Given the description of an element on the screen output the (x, y) to click on. 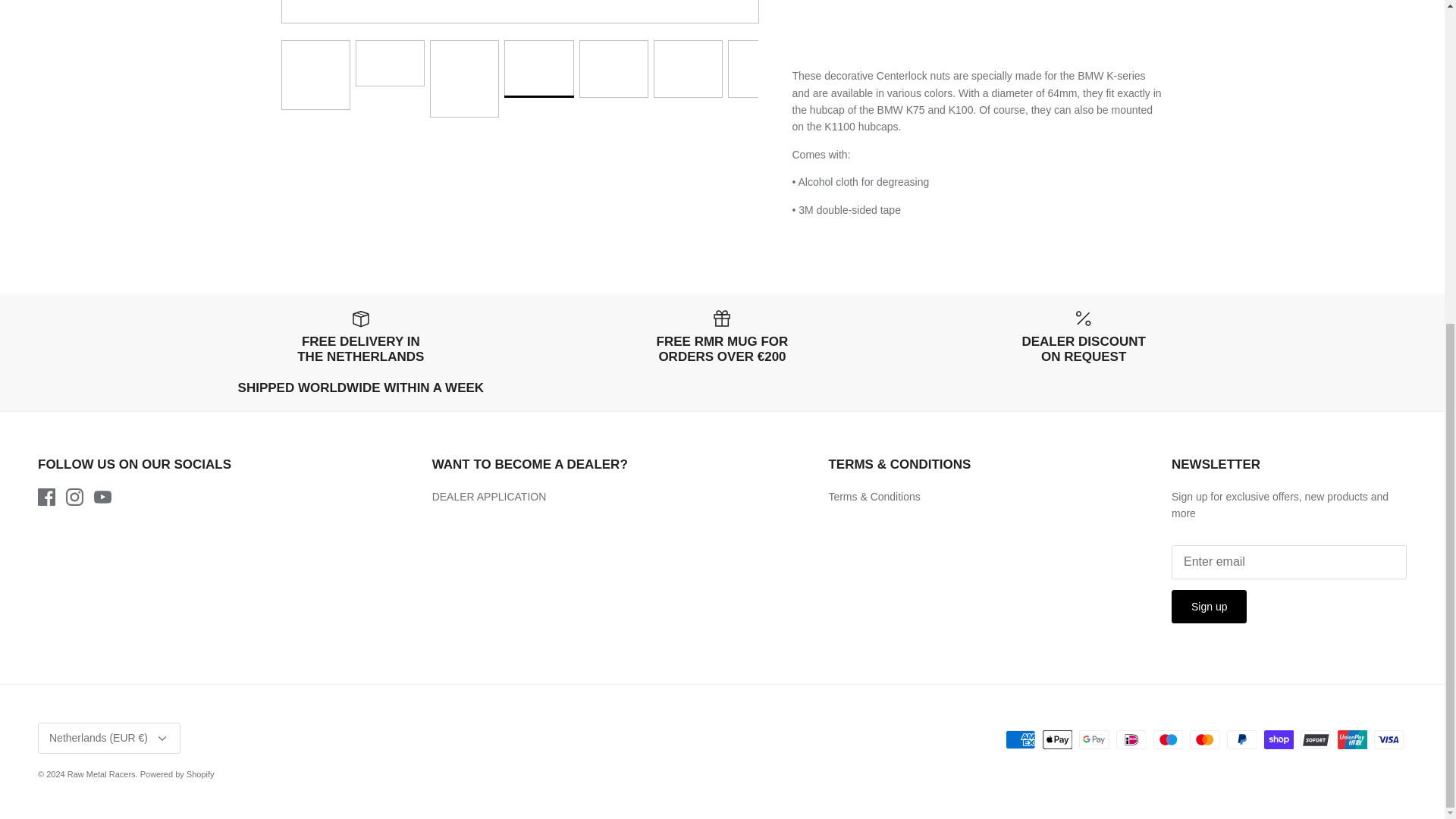
Facebook (46, 497)
Instagram (73, 497)
